Given the description of an element on the screen output the (x, y) to click on. 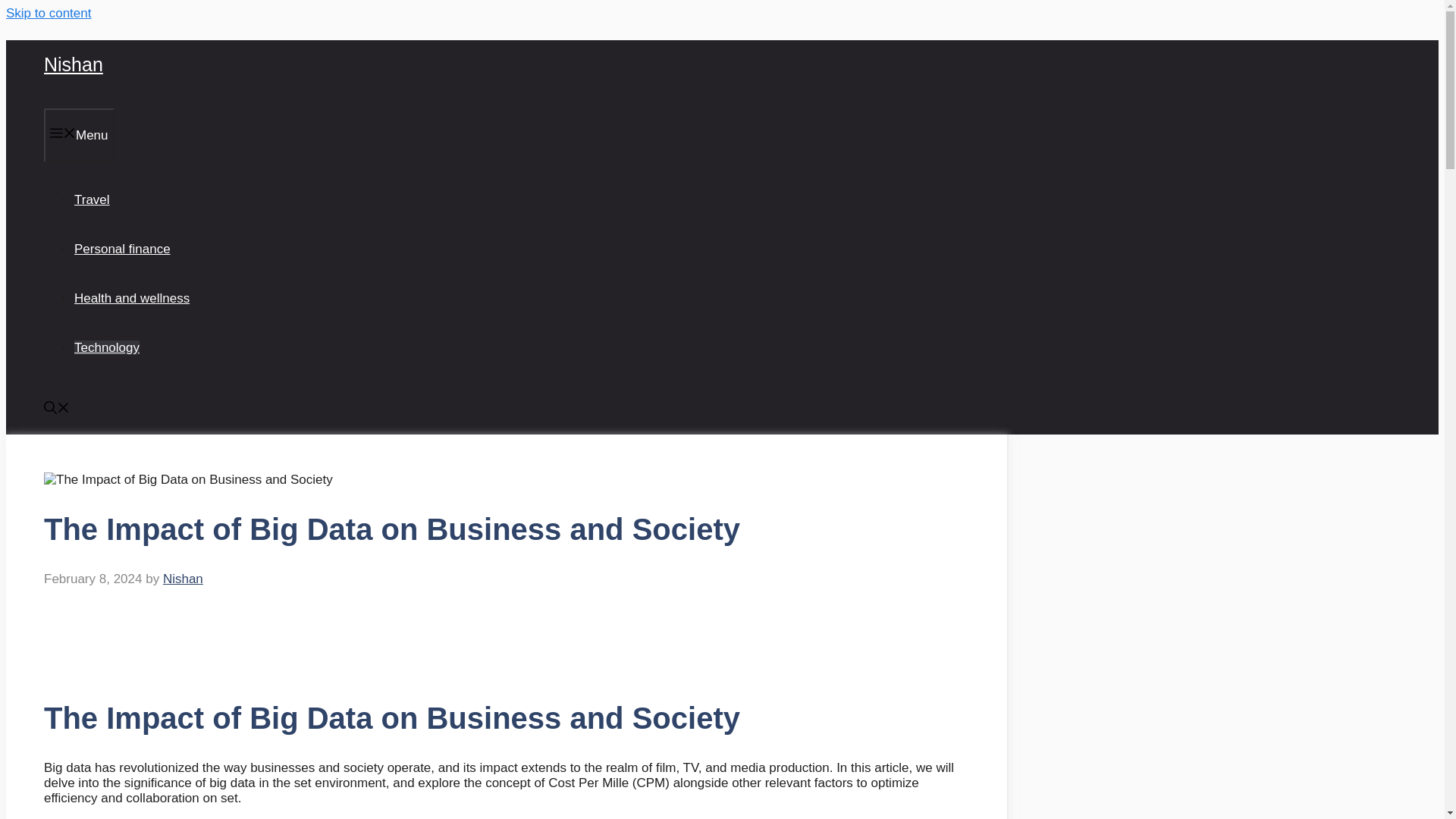
Nishan (183, 578)
Nishan (73, 64)
Travel (92, 199)
Skip to content (47, 12)
Health and wellness (131, 298)
The Impact of Big Data on Business and Society (188, 479)
Technology (106, 347)
Skip to content (47, 12)
Menu (79, 135)
View all posts by Nishan (183, 578)
Personal finance (122, 248)
